Given the description of an element on the screen output the (x, y) to click on. 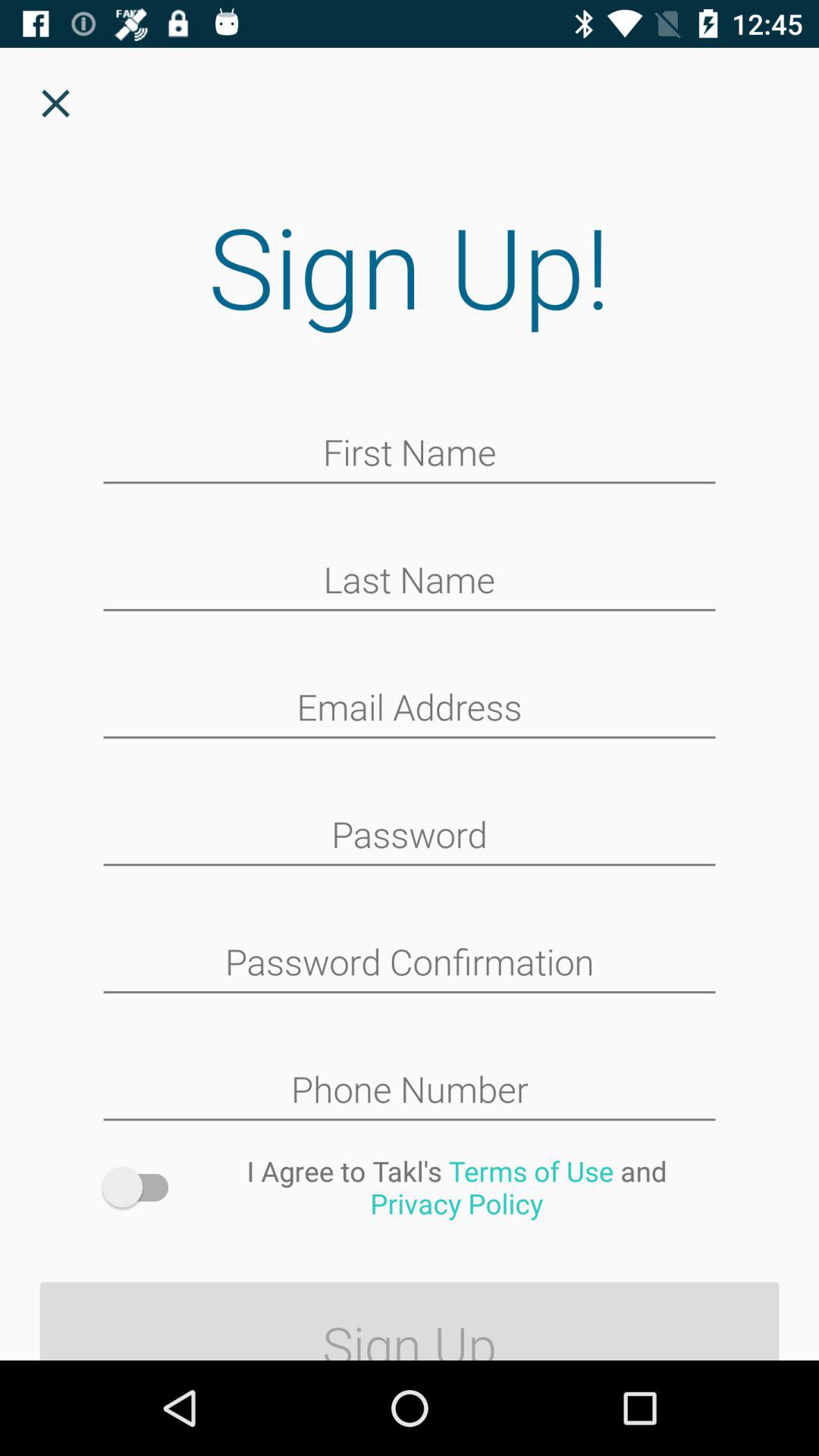
fill out first name (409, 454)
